Given the description of an element on the screen output the (x, y) to click on. 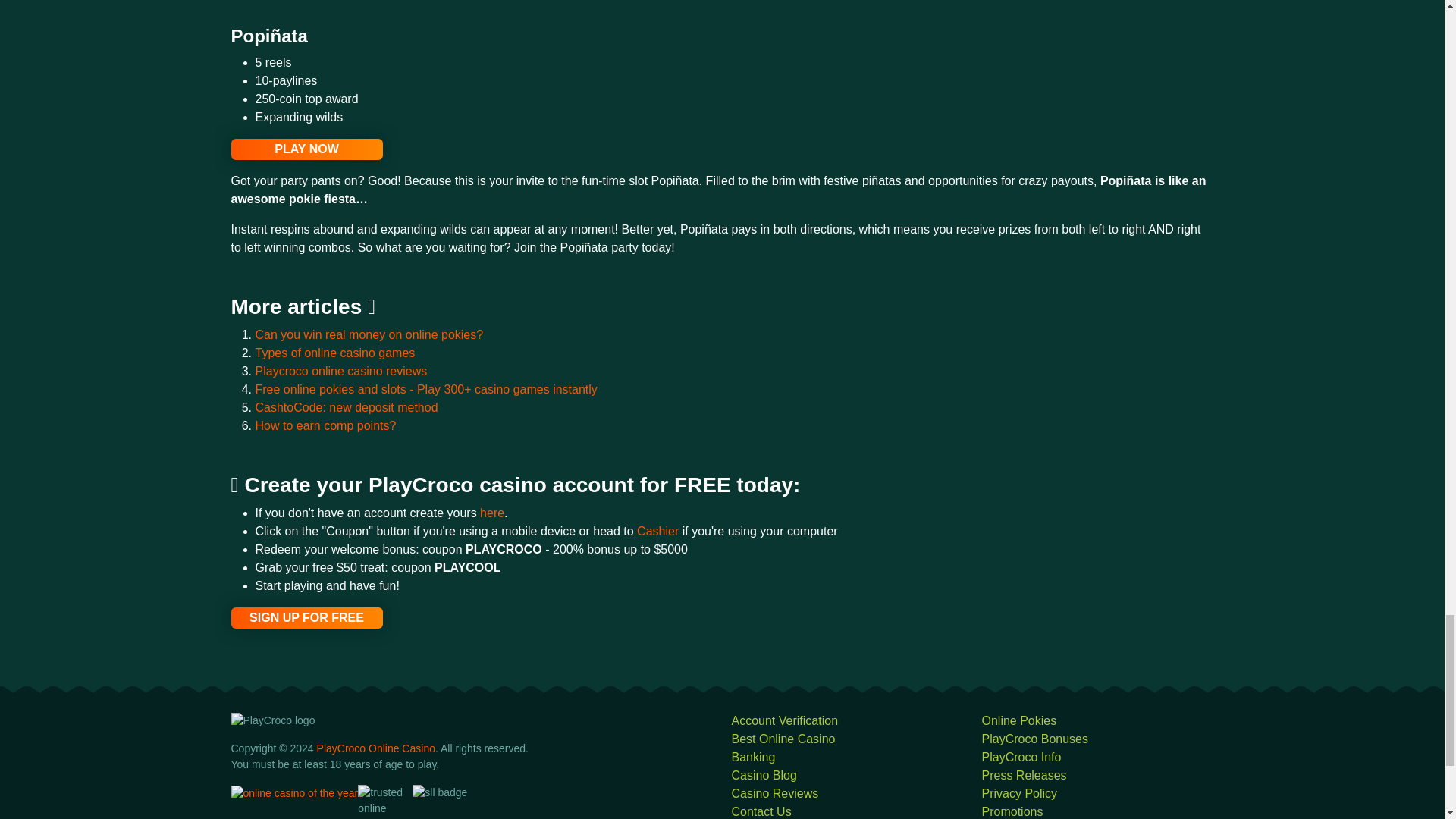
How to earn comp points? (325, 425)
Can you win real money on online pokies? (368, 334)
Banking (752, 757)
Free online pokies and slots (425, 389)
Types of online casino games (334, 352)
PlayCroco Online Casino (376, 748)
PLAY NOW (305, 148)
Account Verification (784, 720)
SIGN UP FOR FREE (305, 617)
Best Online Casino (782, 738)
Playcroco online casino reviews (340, 370)
here (491, 512)
Casino Blog (763, 775)
create an account (491, 512)
playcroco login (305, 148)
